Given the description of an element on the screen output the (x, y) to click on. 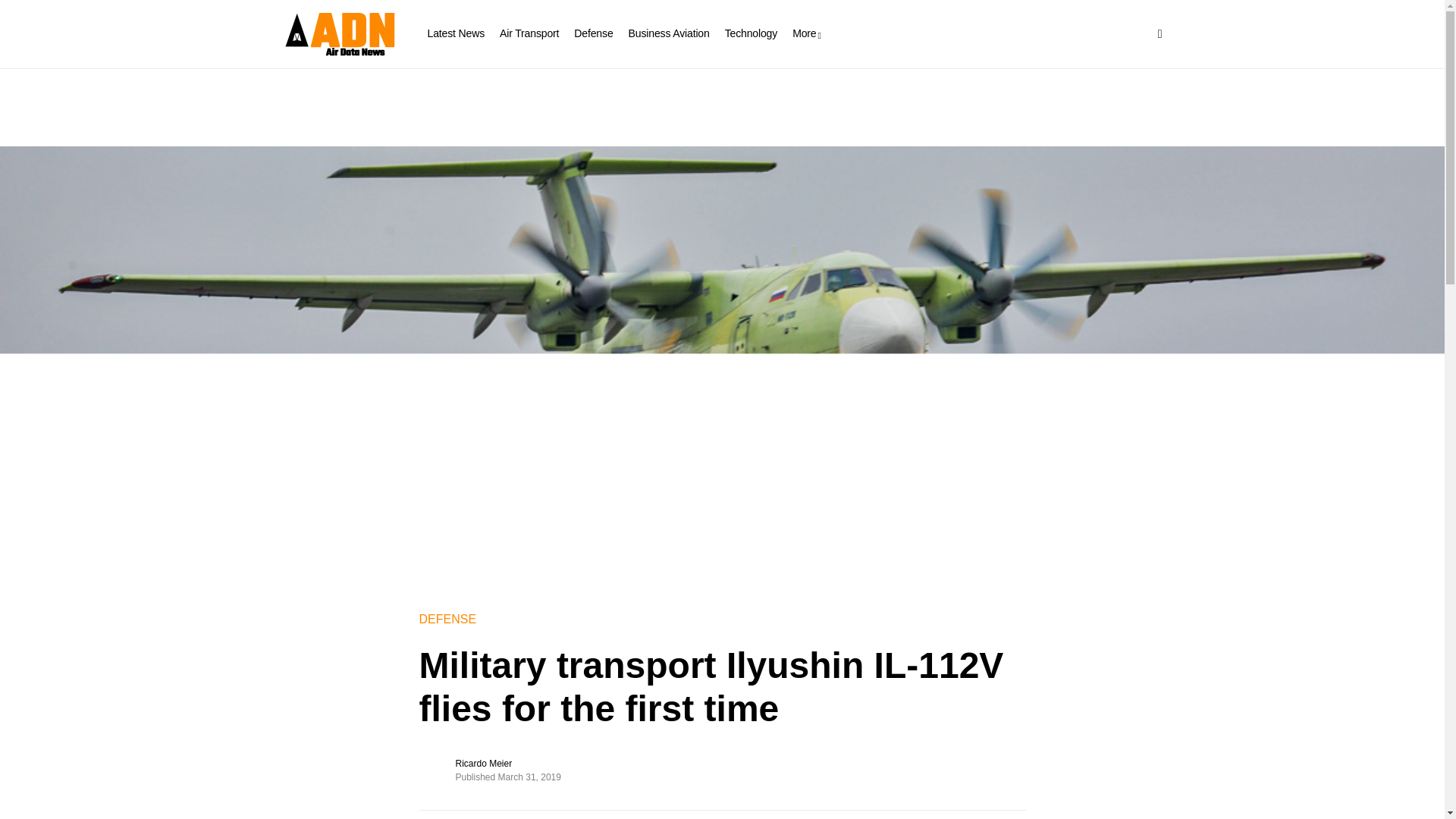
Business Aviation (669, 33)
DEFENSE (447, 618)
Ricardo Meier (483, 763)
